Given the description of an element on the screen output the (x, y) to click on. 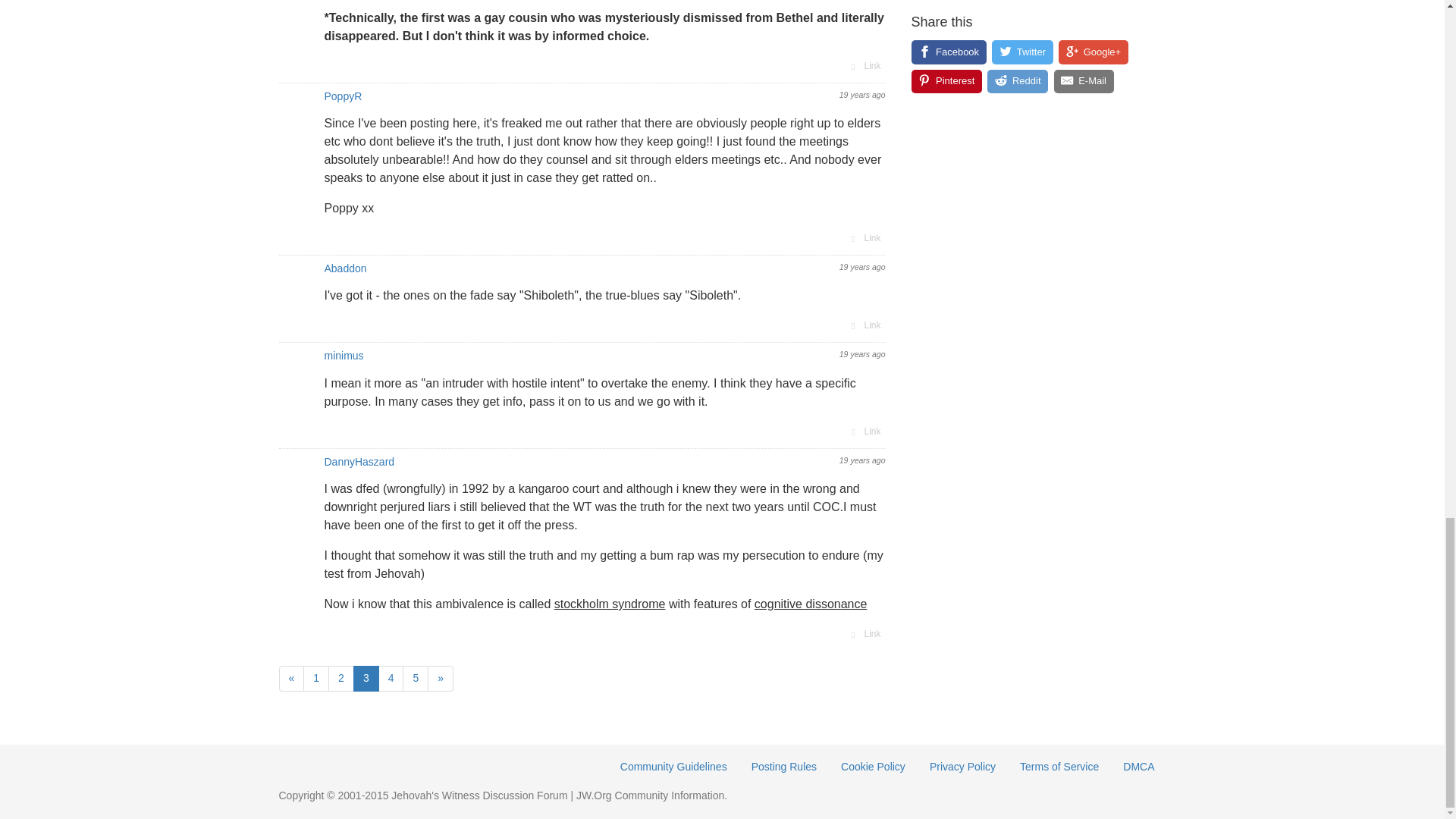
Abaddon (345, 268)
Link (864, 238)
PoppyR (343, 96)
Link (864, 65)
